Given the description of an element on the screen output the (x, y) to click on. 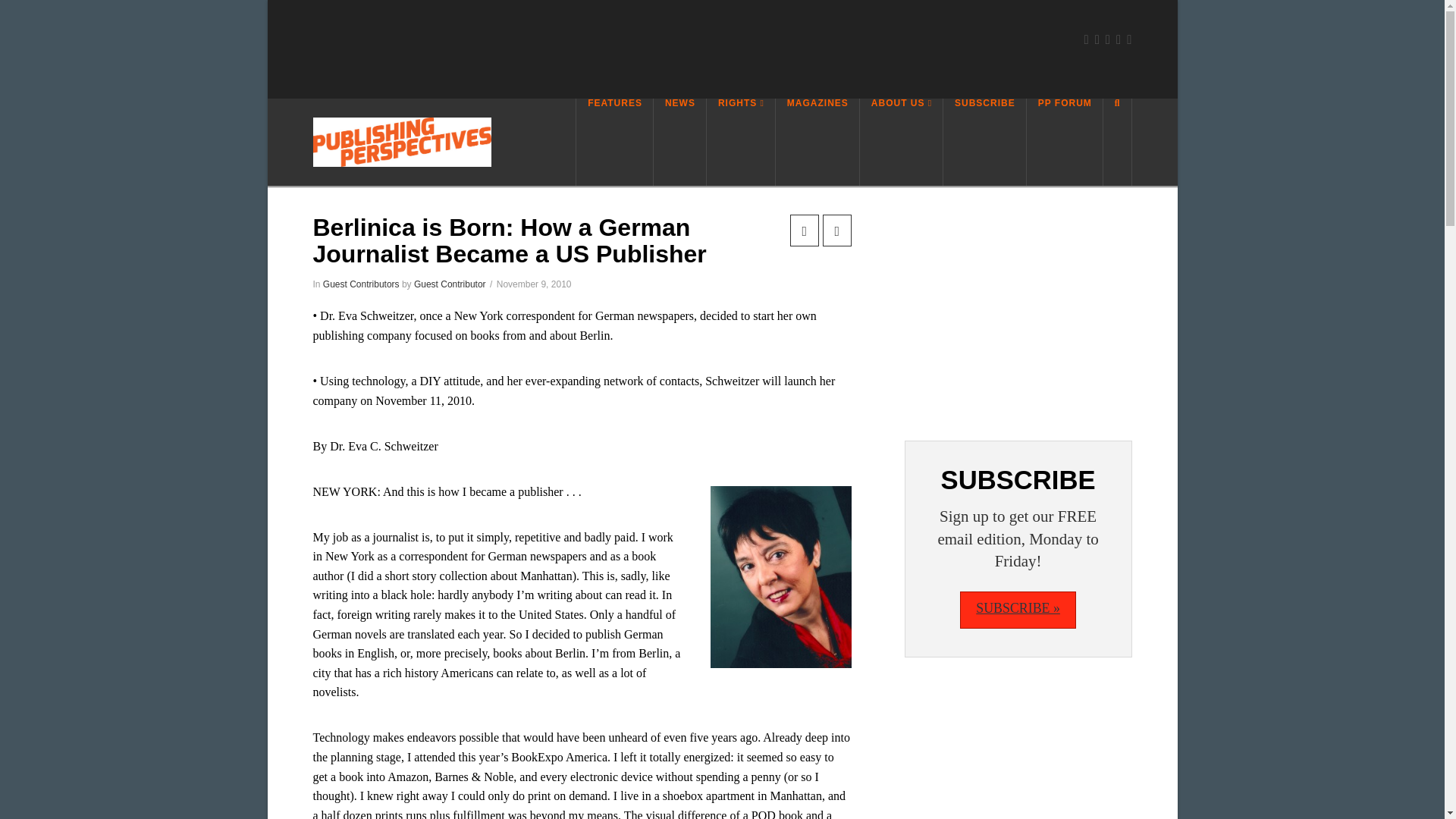
MAGAZINES (818, 141)
Guest Contributor (449, 284)
FEATURES (614, 141)
SUBSCRIBE (984, 141)
Guest Contributors (360, 284)
ABOUT US (901, 141)
